Given the description of an element on the screen output the (x, y) to click on. 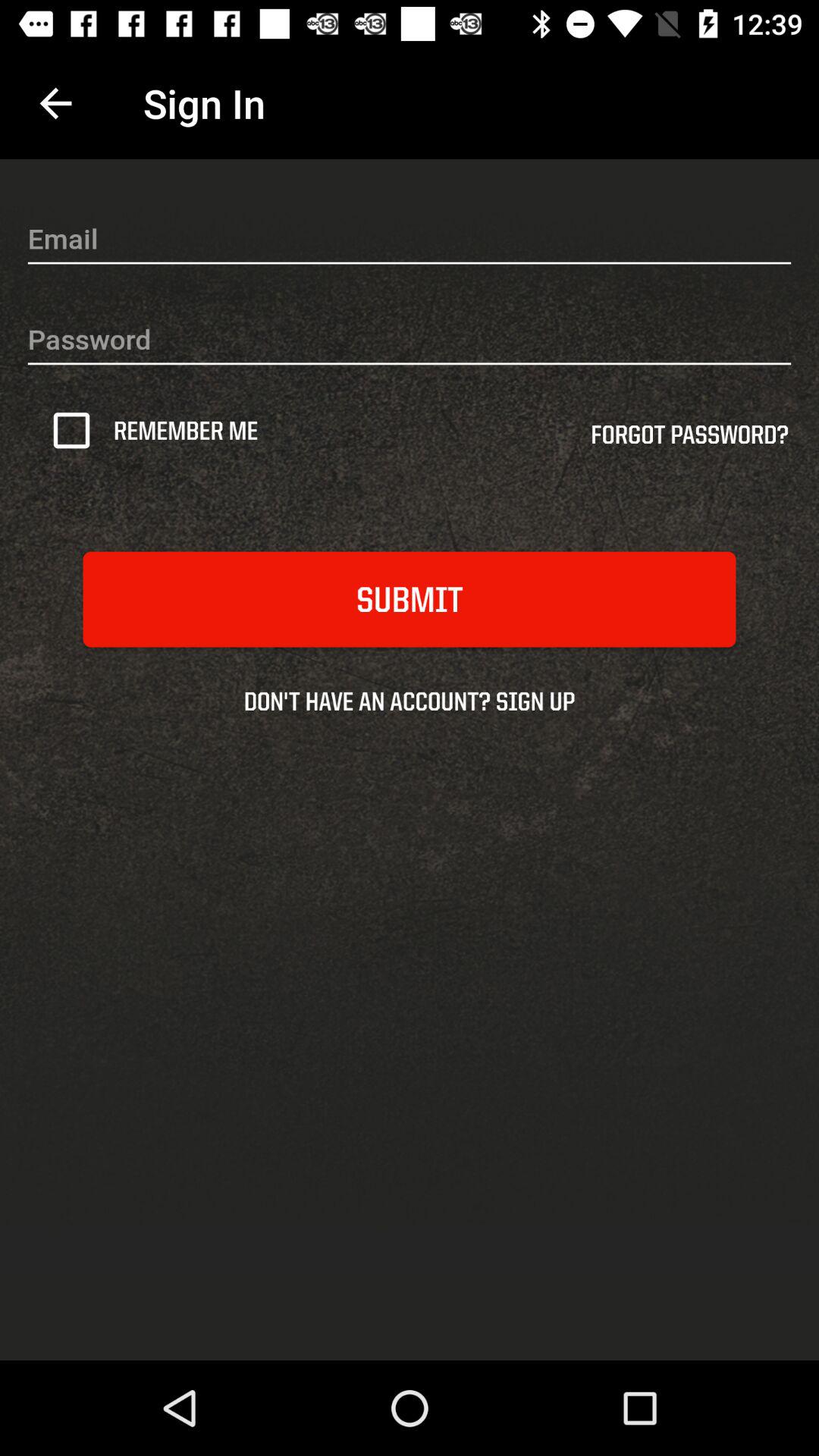
turn off item at the top right corner (689, 439)
